Given the description of an element on the screen output the (x, y) to click on. 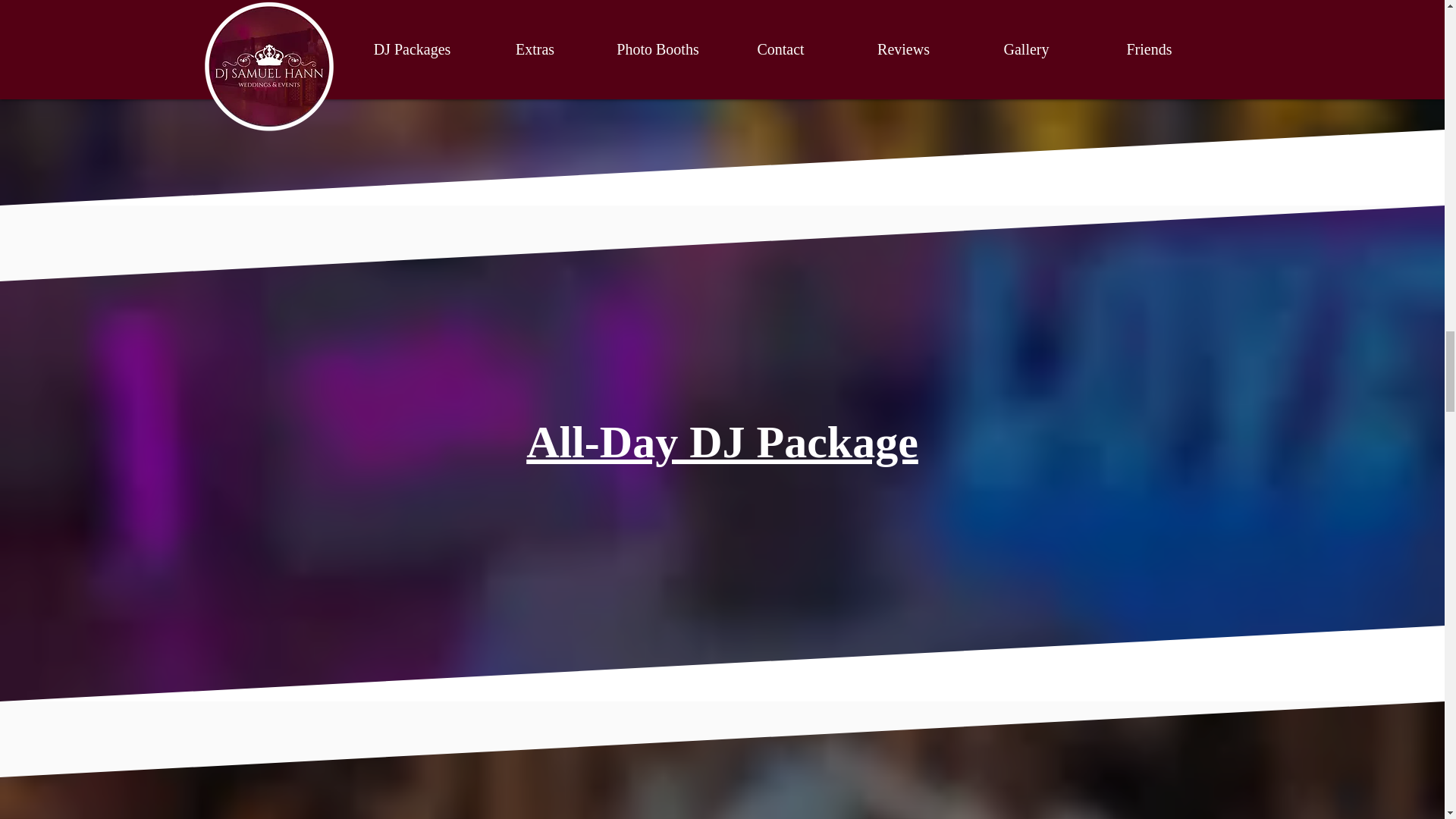
All-Day DJ Package (721, 441)
